Given the description of an element on the screen output the (x, y) to click on. 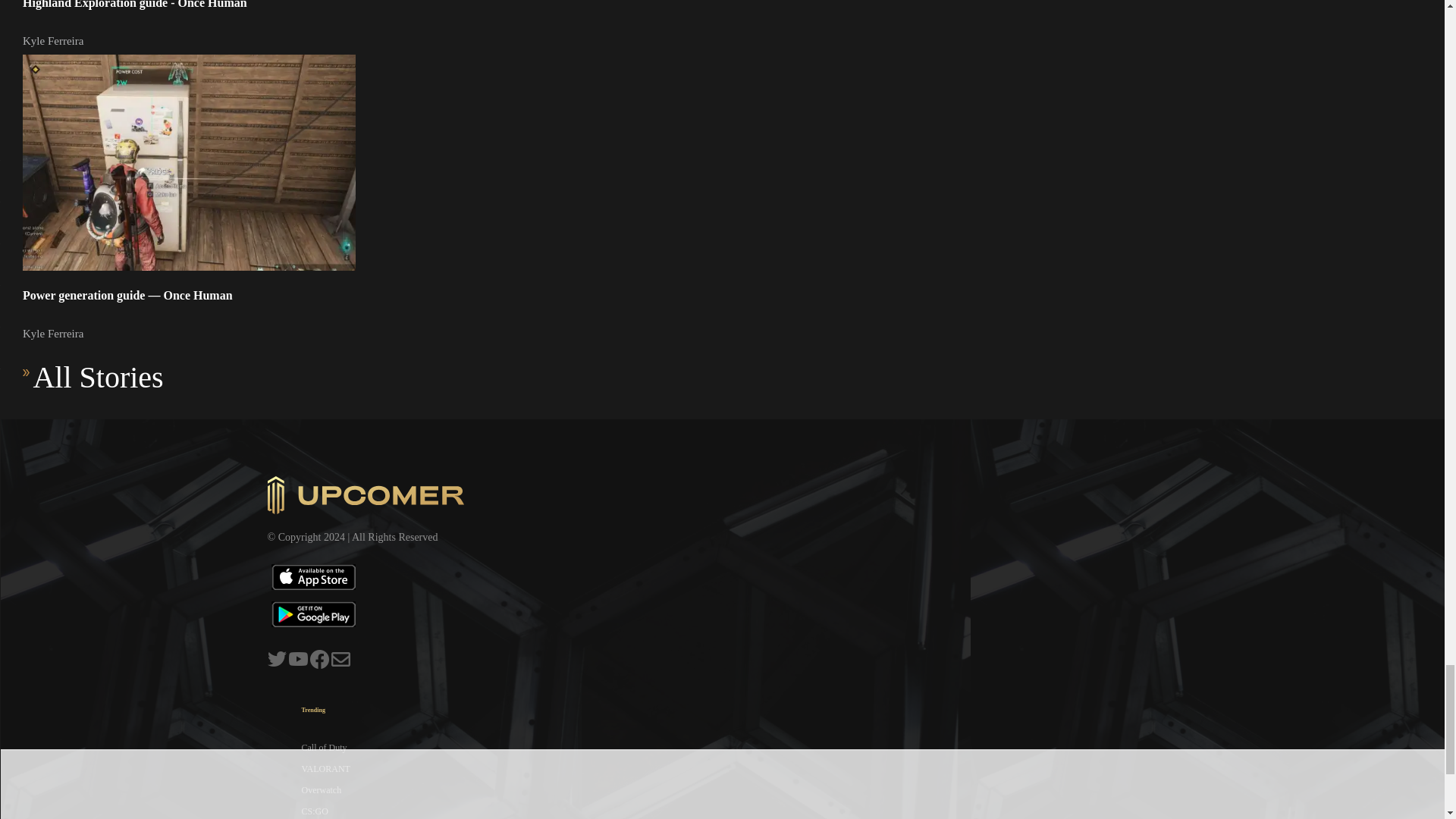
Upcomer Logo (365, 494)
